Given the description of an element on the screen output the (x, y) to click on. 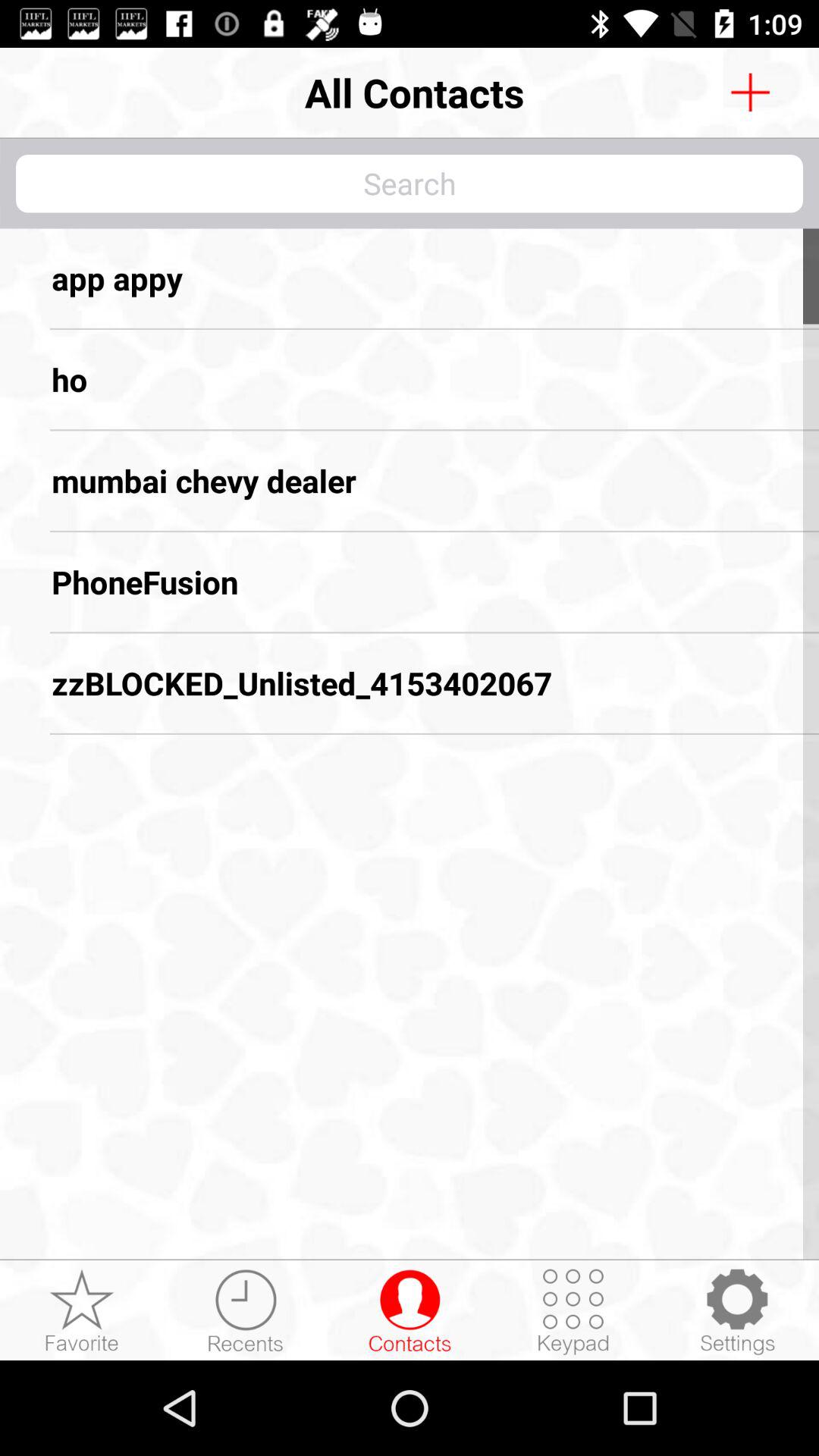
go to rating (81, 1311)
